Given the description of an element on the screen output the (x, y) to click on. 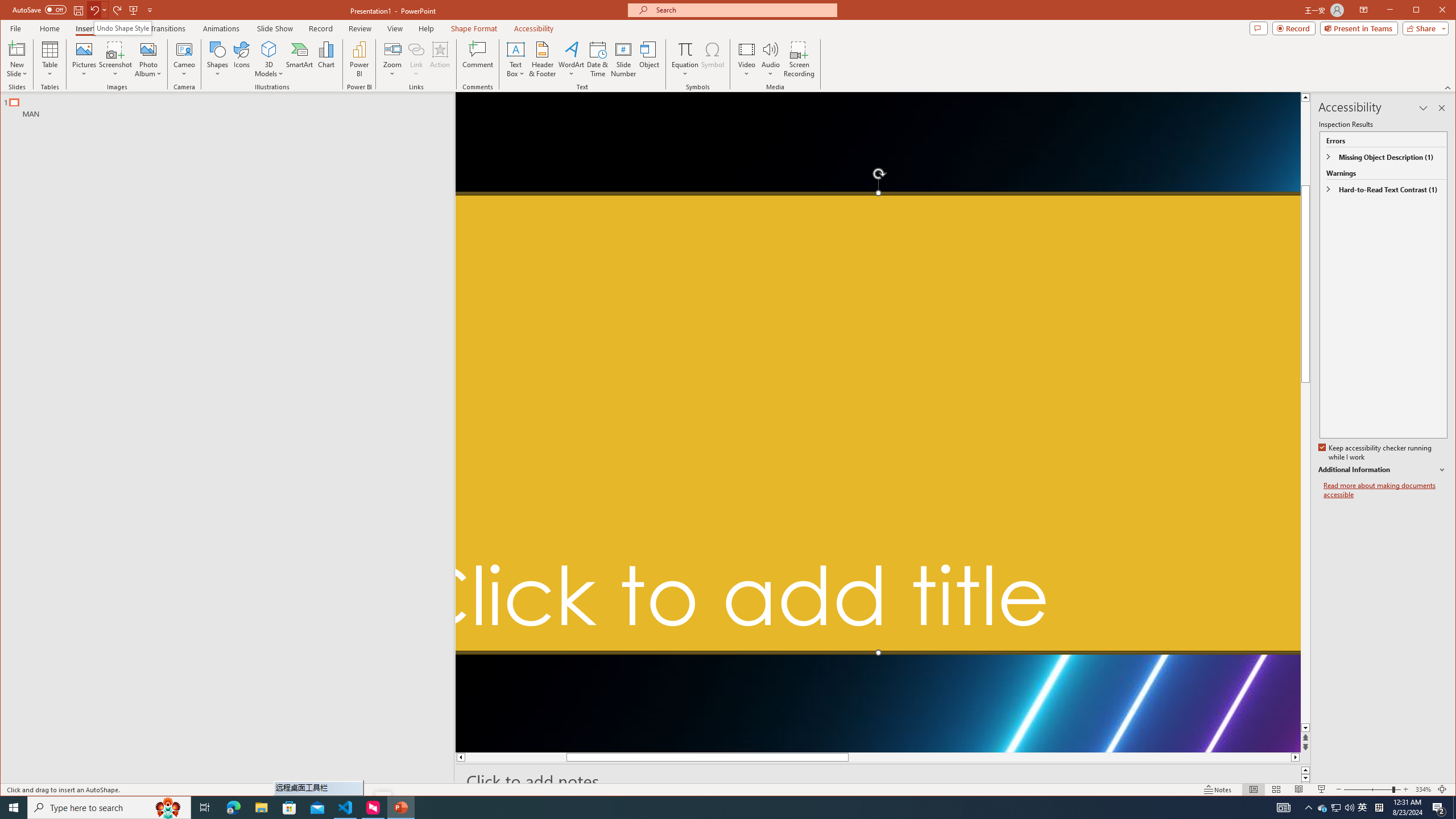
Q2790: 100% (1349, 807)
Link (416, 48)
Rectangle (221, 436)
Title TextBox (1322, 807)
Close pane (877, 422)
Review (1441, 107)
Shape Format (360, 28)
Line up (473, 28)
3D Models (1305, 96)
Zoom (269, 59)
Design (392, 59)
Line down (122, 28)
